Given the description of an element on the screen output the (x, y) to click on. 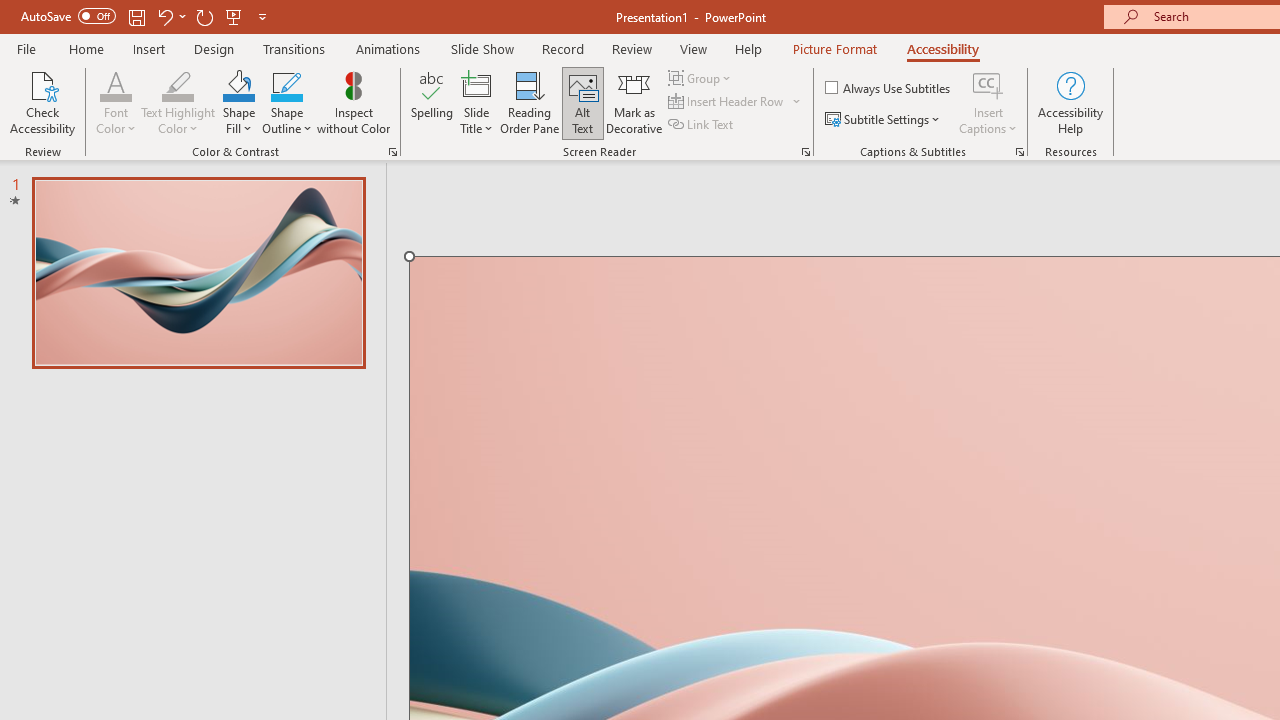
Inspect without Color (353, 102)
Screen Reader (805, 151)
Reading Order Pane (529, 102)
